Given the description of an element on the screen output the (x, y) to click on. 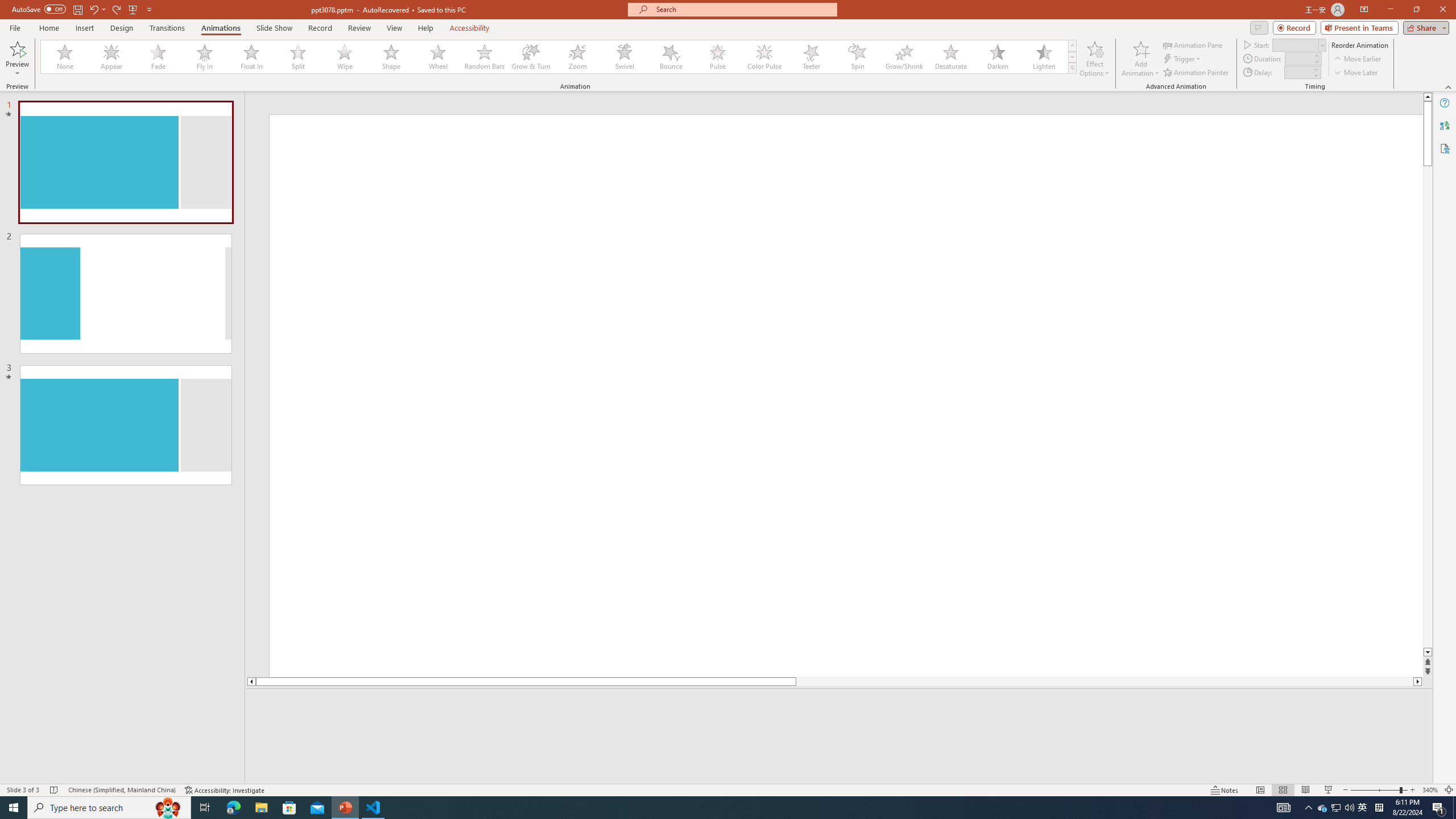
Move Earlier (1357, 58)
Animation Delay (1297, 72)
Less (1315, 75)
Wipe (344, 56)
Grow & Turn (531, 56)
Preview (17, 48)
Slide (125, 425)
Animation Painter (1196, 72)
